Given the description of an element on the screen output the (x, y) to click on. 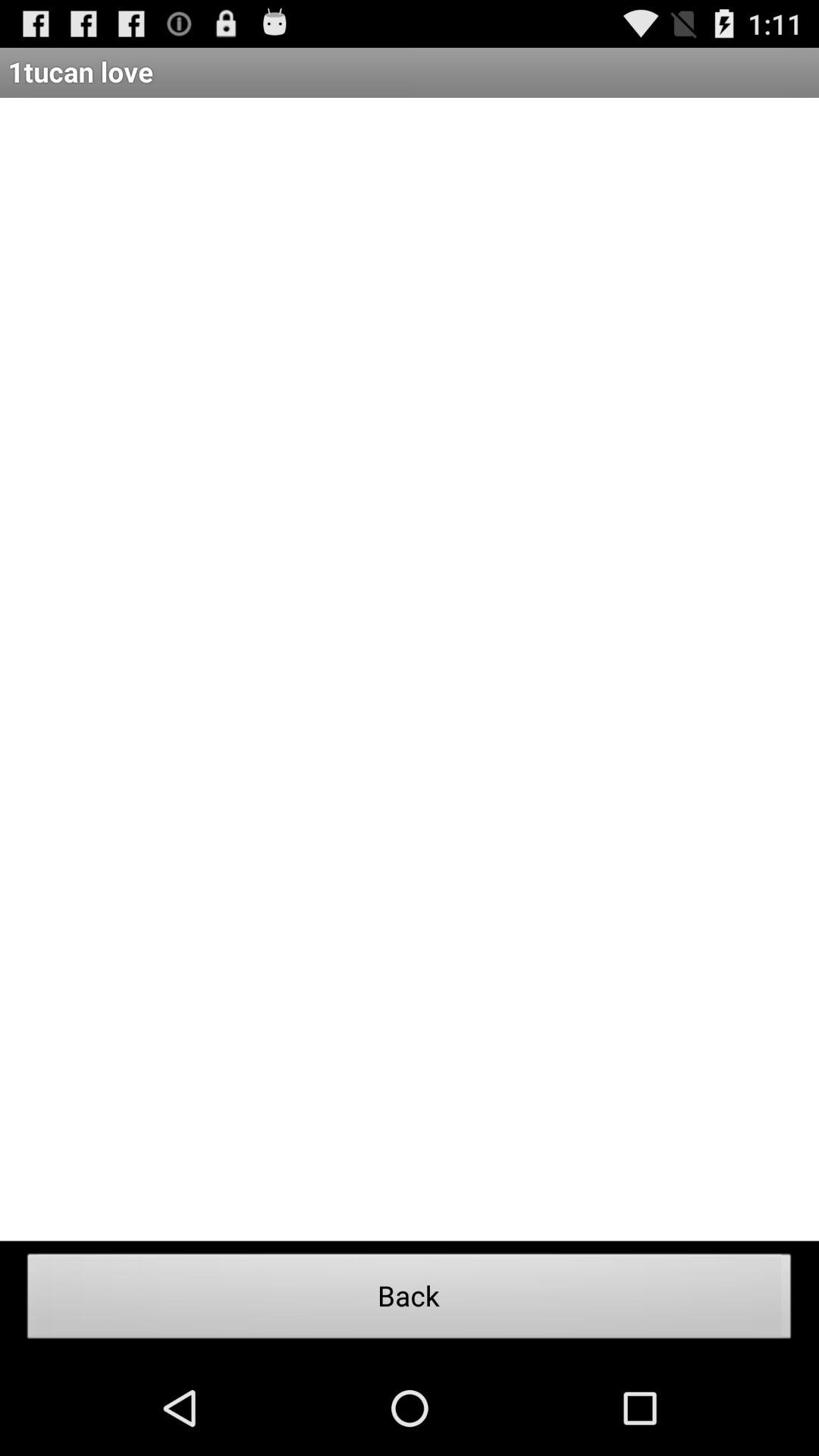
jump to the back icon (409, 1300)
